Given the description of an element on the screen output the (x, y) to click on. 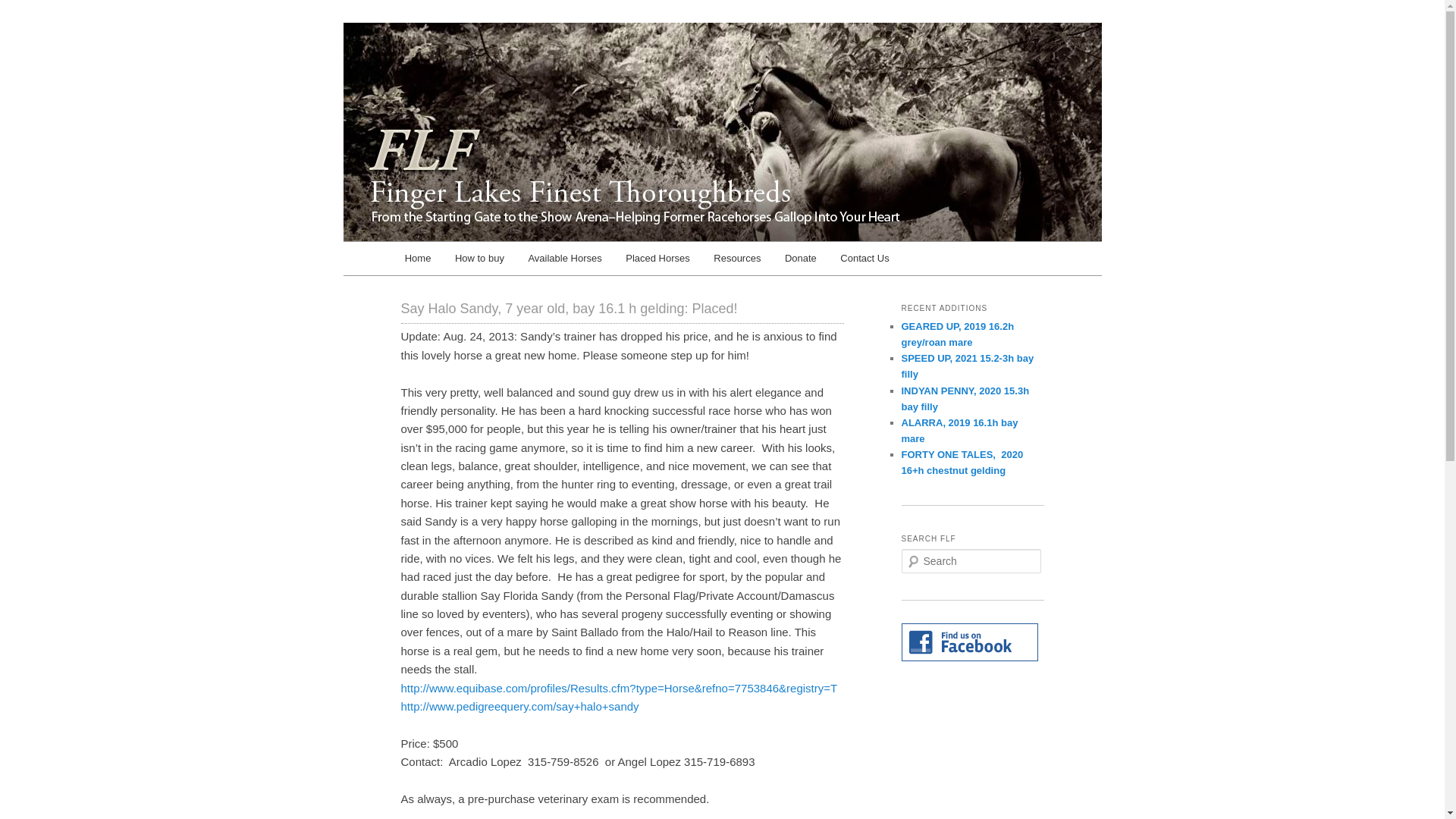
Placed Horses (656, 257)
Finger Lakes Finest Thoroughbreds (594, 77)
ALARRA, 2019 16.1h bay mare (959, 430)
Skip to secondary content (479, 260)
Search (21, 11)
Skip to secondary content (479, 260)
Finger Lakes Finest Thoroughbreds (594, 77)
2020 (656, 257)
INDYAN PENNY, 2020 15.3h bay filly (965, 398)
Donate (800, 257)
